Given the description of an element on the screen output the (x, y) to click on. 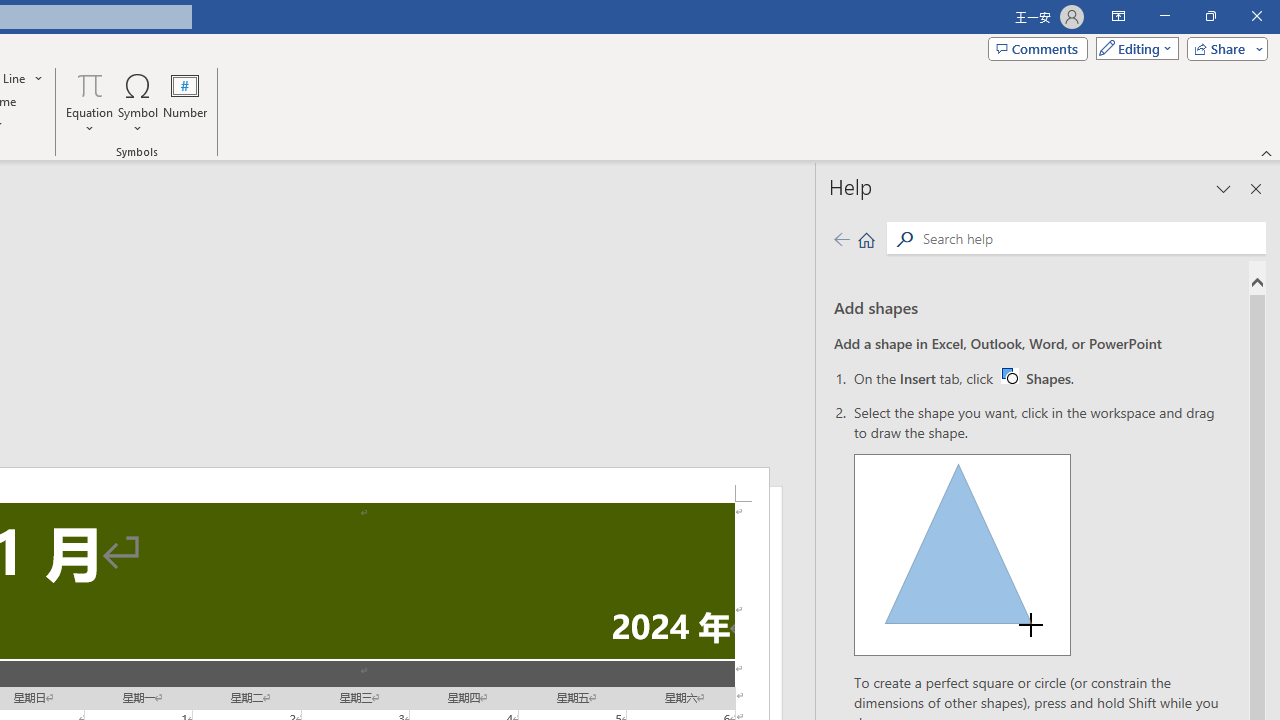
Equation (90, 84)
Equation (90, 102)
Word W32 Shapes button icon (1009, 375)
Drawing a shape (962, 554)
Previous page (1036, 377)
Symbol (841, 238)
